Given the description of an element on the screen output the (x, y) to click on. 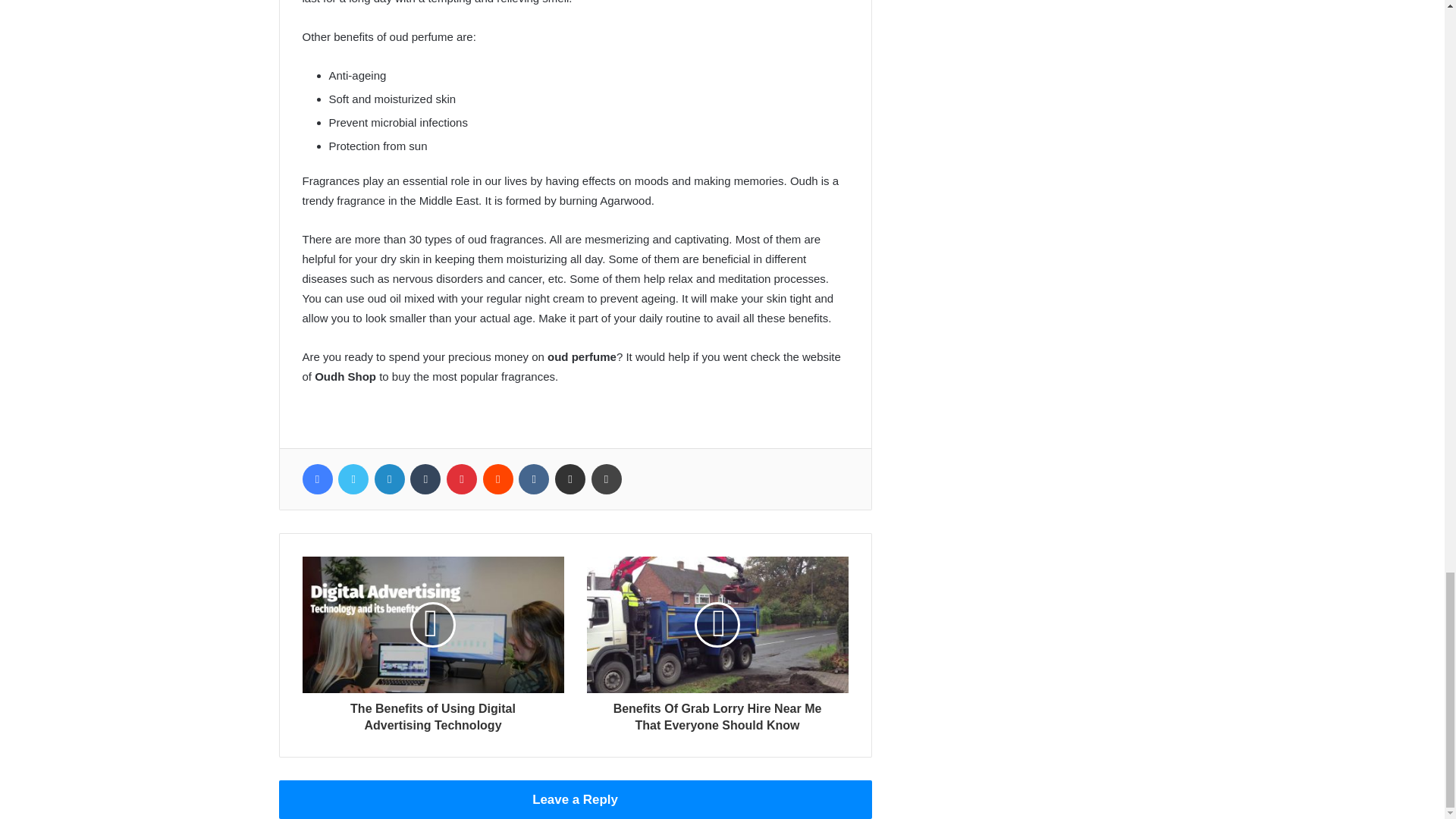
Facebook (316, 479)
Twitter (352, 479)
Pinterest (461, 479)
Tumblr (425, 479)
VKontakte (533, 479)
Reddit (498, 479)
LinkedIn (389, 479)
LinkedIn (389, 479)
Tumblr (425, 479)
Facebook (316, 479)
